Given the description of an element on the screen output the (x, y) to click on. 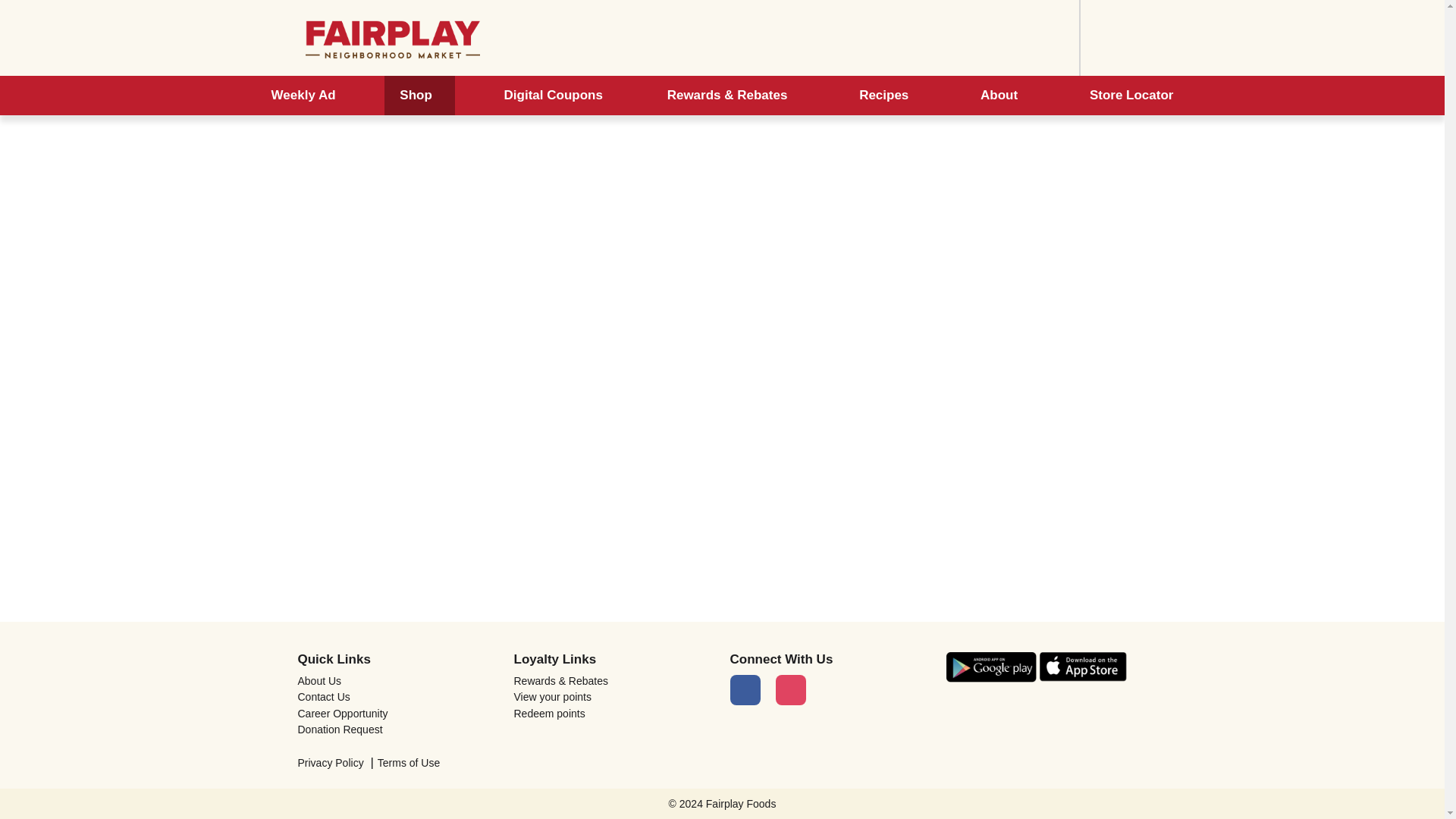
Career Opportunity (397, 713)
Weekly Ad (303, 95)
Store Locator (1131, 95)
Digital Coupons (553, 95)
Donation Request (397, 729)
About Us (397, 680)
About (1003, 95)
Recipes (887, 95)
Contact Us (397, 696)
Shop (419, 95)
